Given the description of an element on the screen output the (x, y) to click on. 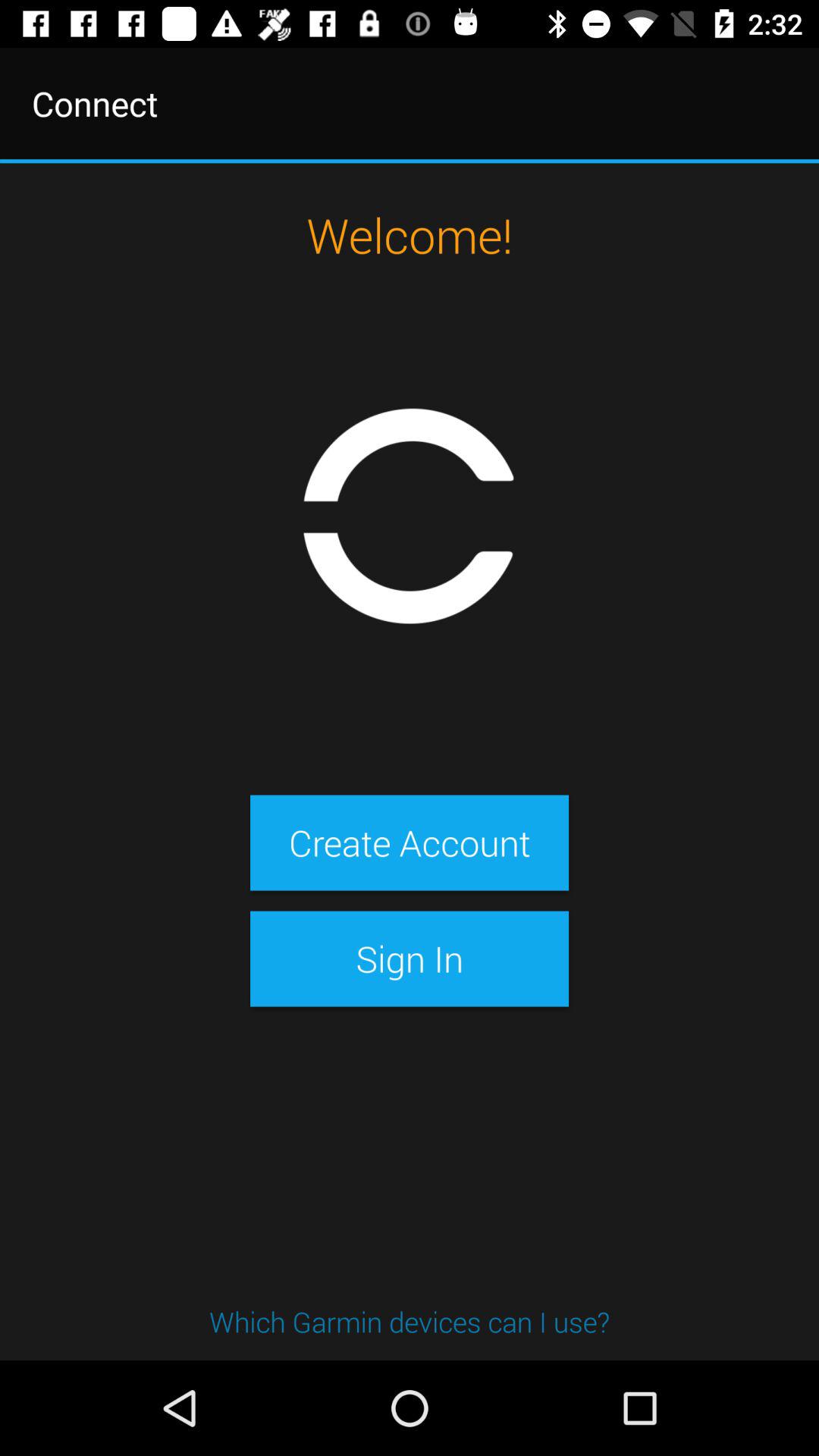
tap the item above the sign in (409, 842)
